Given the description of an element on the screen output the (x, y) to click on. 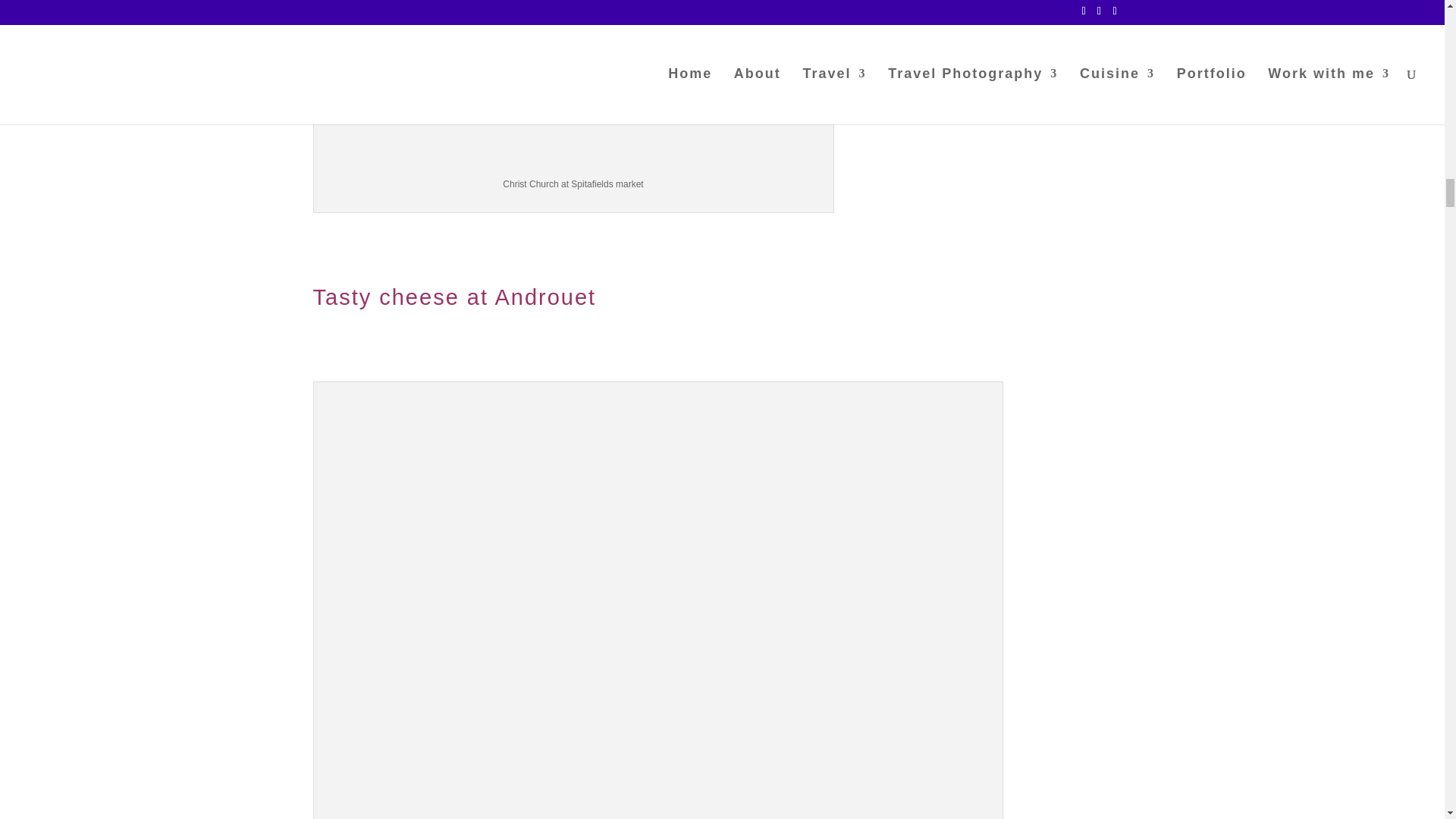
Eating London 2 (573, 83)
